Given the description of an element on the screen output the (x, y) to click on. 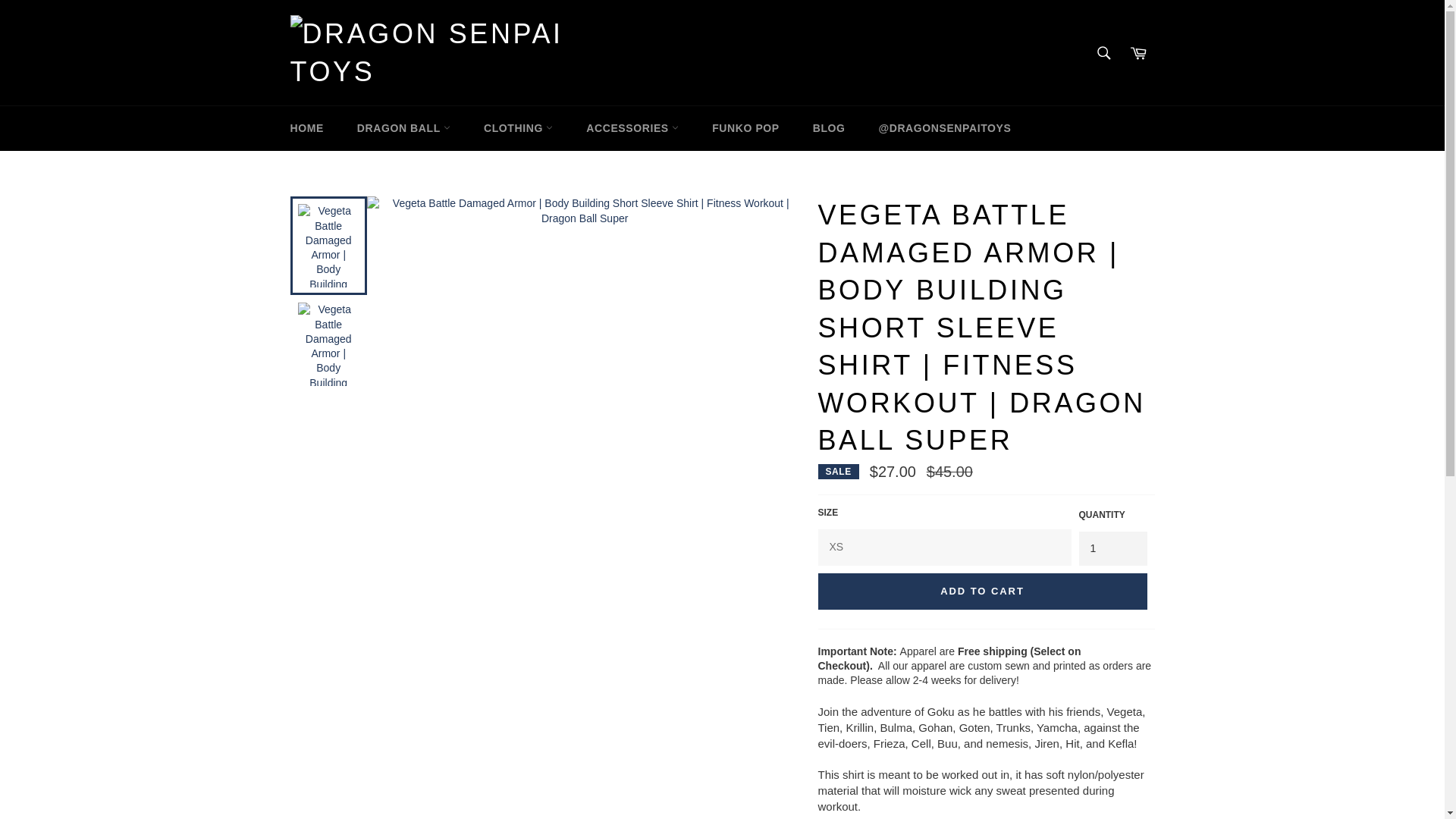
1 (1112, 548)
Cart (1138, 51)
DRAGON BALL (403, 128)
Search (1103, 51)
HOME (306, 128)
